Given the description of an element on the screen output the (x, y) to click on. 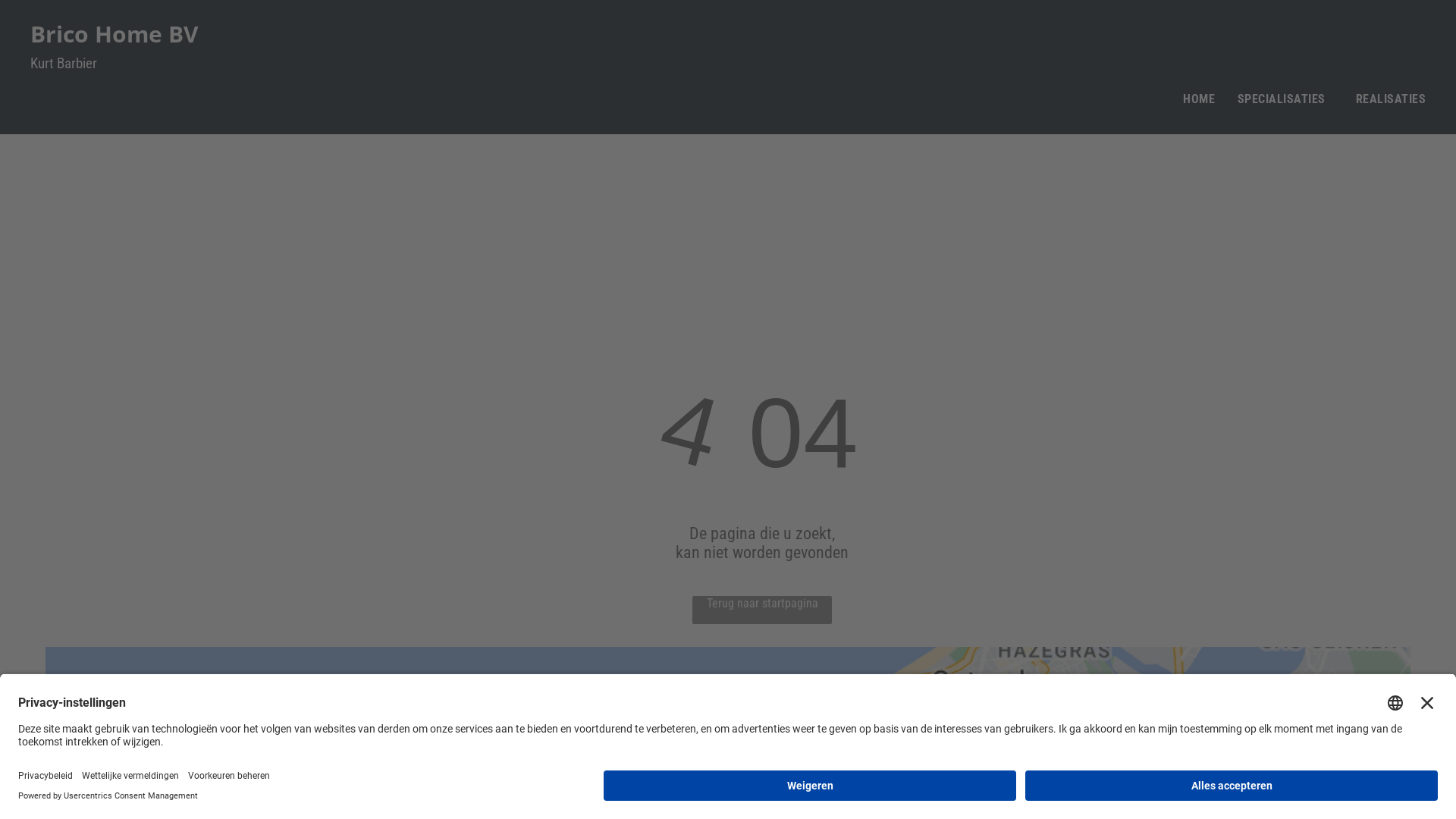
Terug naar startpagina Element type: text (761, 610)
Brico Home BV Element type: text (114, 33)
SPECIALISATIES Element type: text (1285, 98)
Kurt Barbier Element type: text (63, 63)
REALISATIES Element type: text (1390, 98)
HOME Element type: text (1198, 98)
